Given the description of an element on the screen output the (x, y) to click on. 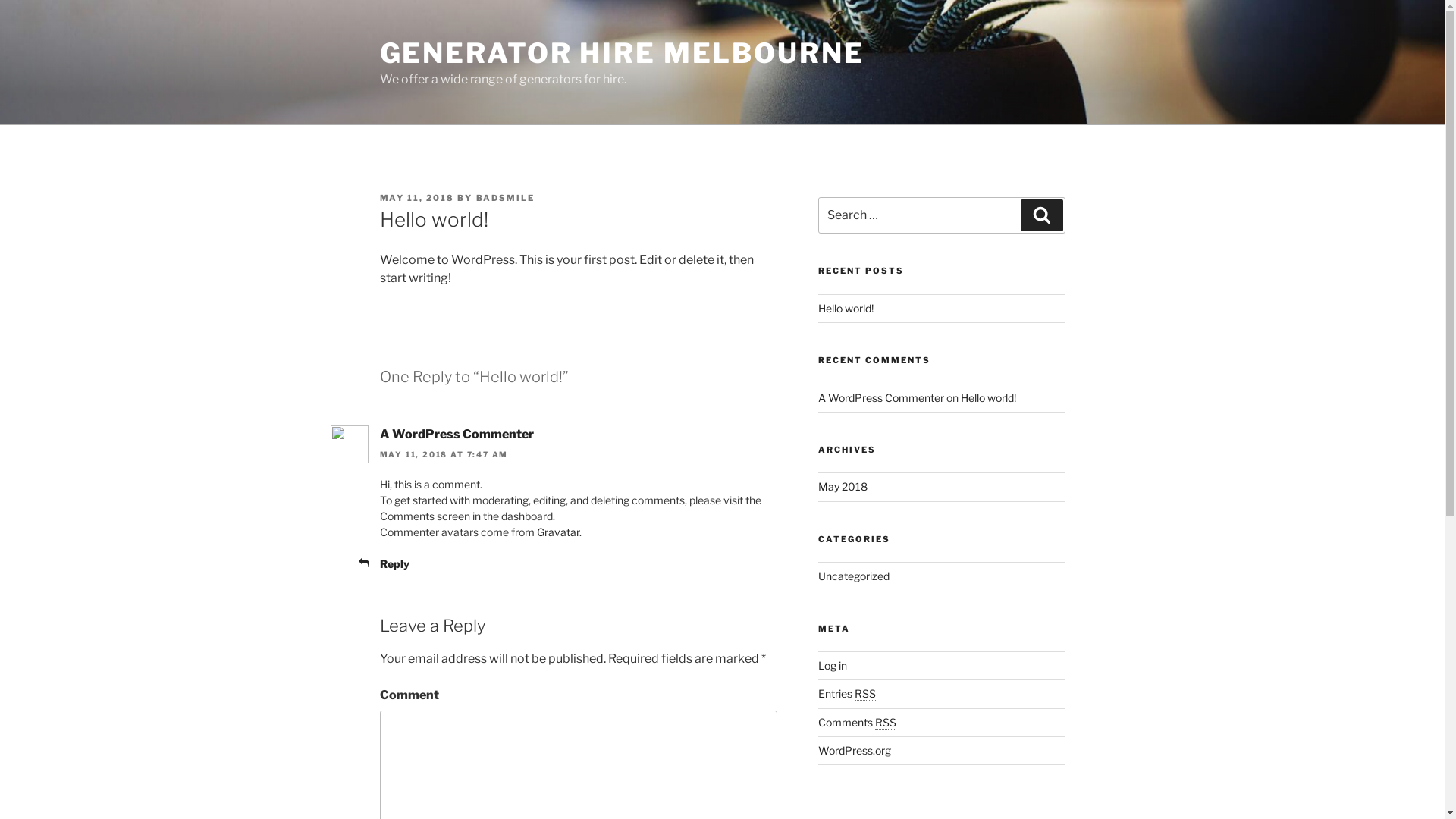
MAY 11, 2018 AT 7:47 AM Element type: text (443, 453)
Hello world! Element type: text (845, 307)
A WordPress Commenter Element type: text (456, 433)
MAY 11, 2018 Element type: text (416, 197)
May 2018 Element type: text (842, 486)
Skip to content Element type: text (0, 0)
Search Element type: text (1041, 215)
Comments RSS Element type: text (857, 721)
Uncategorized Element type: text (853, 575)
Entries RSS Element type: text (846, 693)
A WordPress Commenter Element type: text (881, 397)
Reply Element type: text (393, 563)
WordPress.org Element type: text (854, 749)
Hello world! Element type: text (988, 397)
Log in Element type: text (832, 664)
BADSMILE Element type: text (505, 197)
Gravatar Element type: text (557, 531)
GENERATOR HIRE MELBOURNE Element type: text (621, 52)
